Given the description of an element on the screen output the (x, y) to click on. 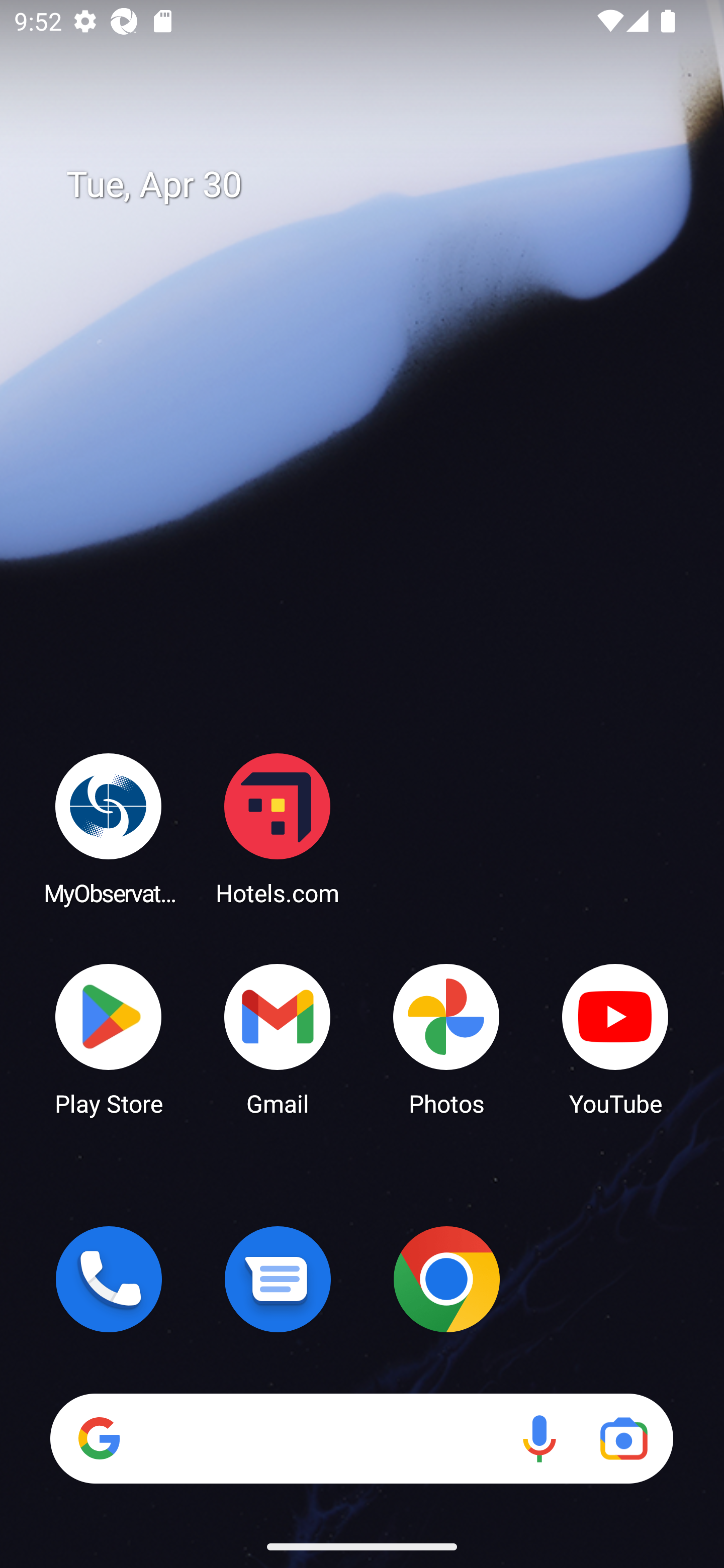
Tue, Apr 30 (375, 184)
MyObservatory (108, 828)
Hotels.com (277, 828)
Play Store (108, 1038)
Gmail (277, 1038)
Photos (445, 1038)
YouTube (615, 1038)
Phone (108, 1279)
Messages (277, 1279)
Chrome (446, 1279)
Voice search (539, 1438)
Google Lens (623, 1438)
